Given the description of an element on the screen output the (x, y) to click on. 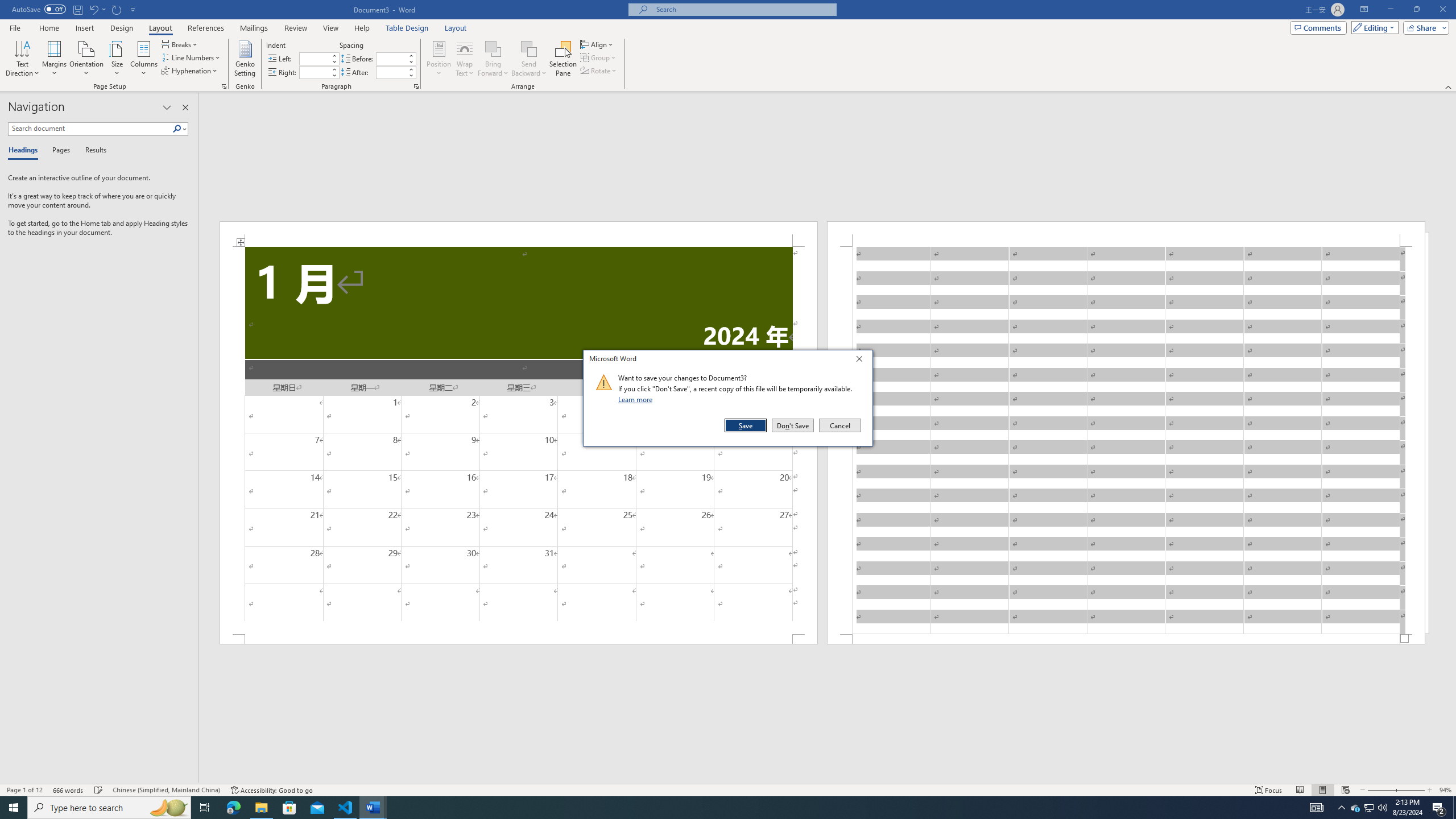
Size (116, 58)
Text Direction (22, 58)
Hyphenation (189, 69)
Header -Section 1- (1126, 233)
Margins (54, 58)
Word - 2 running windows (373, 807)
